Given the description of an element on the screen output the (x, y) to click on. 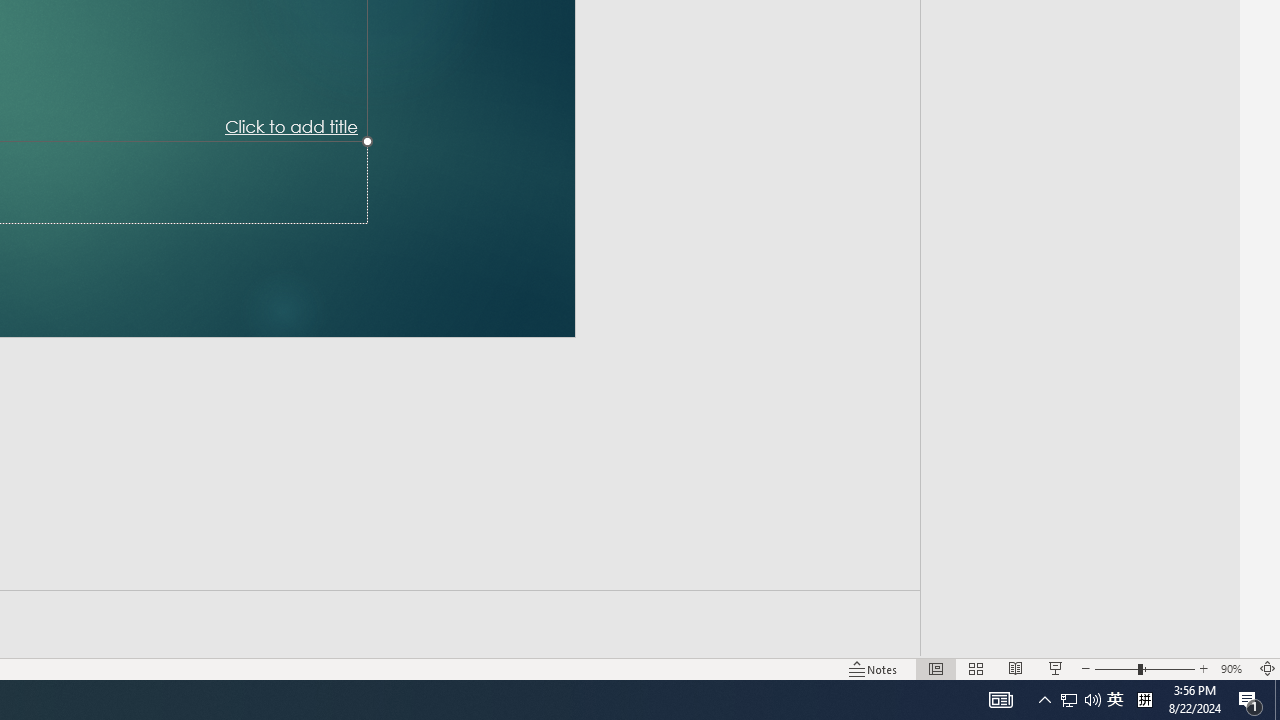
Zoom 90% (1234, 668)
